Given the description of an element on the screen output the (x, y) to click on. 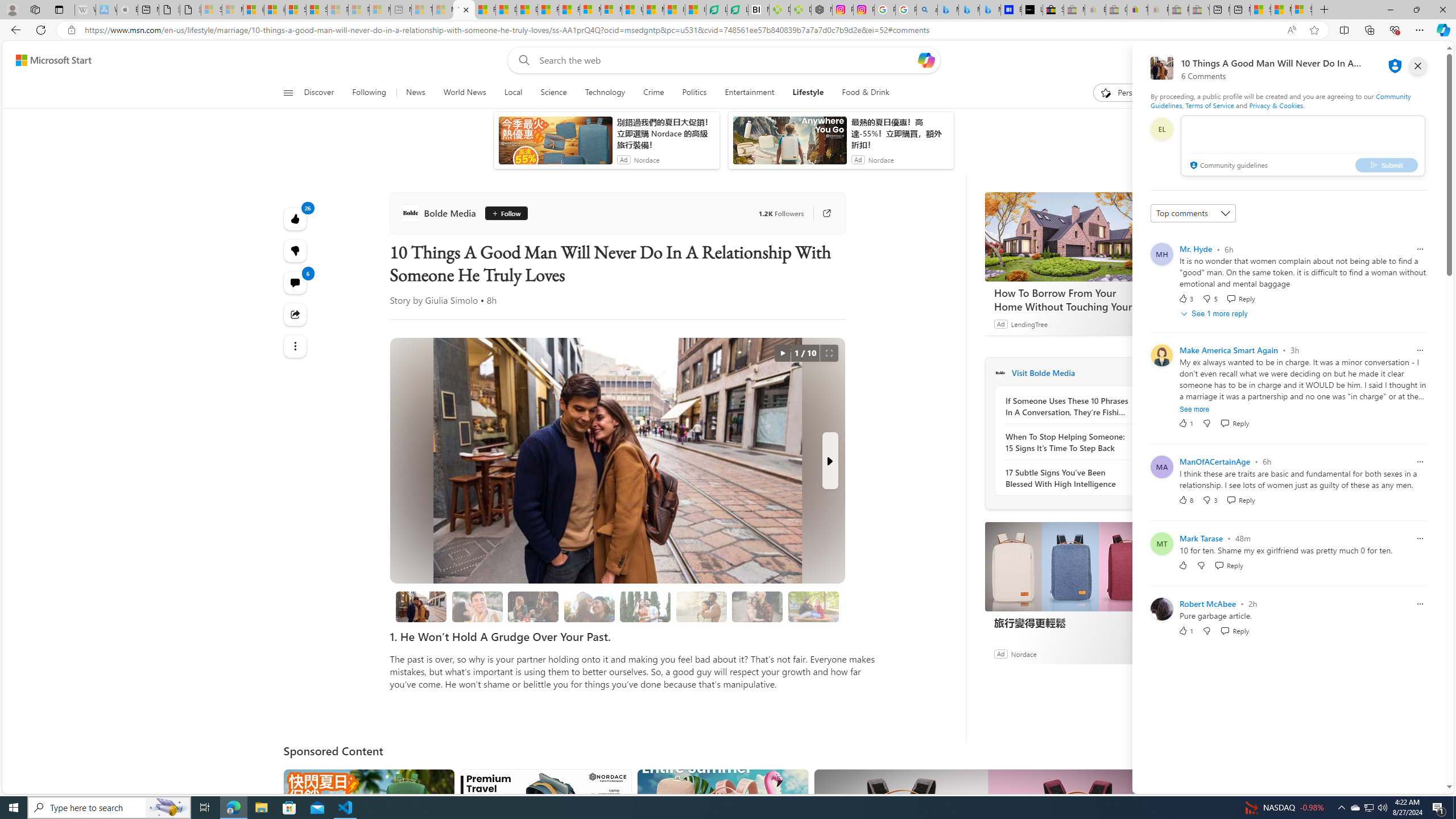
News (414, 92)
Sign in to your Microsoft account - Sleeping (211, 9)
26 Like (295, 218)
Food and Drink - MSN (485, 9)
Bolde Media (1000, 372)
Nvidia va a poner a prueba la paciencia de los inversores (759, 9)
Sign in to your Microsoft account (1301, 9)
